Given the description of an element on the screen output the (x, y) to click on. 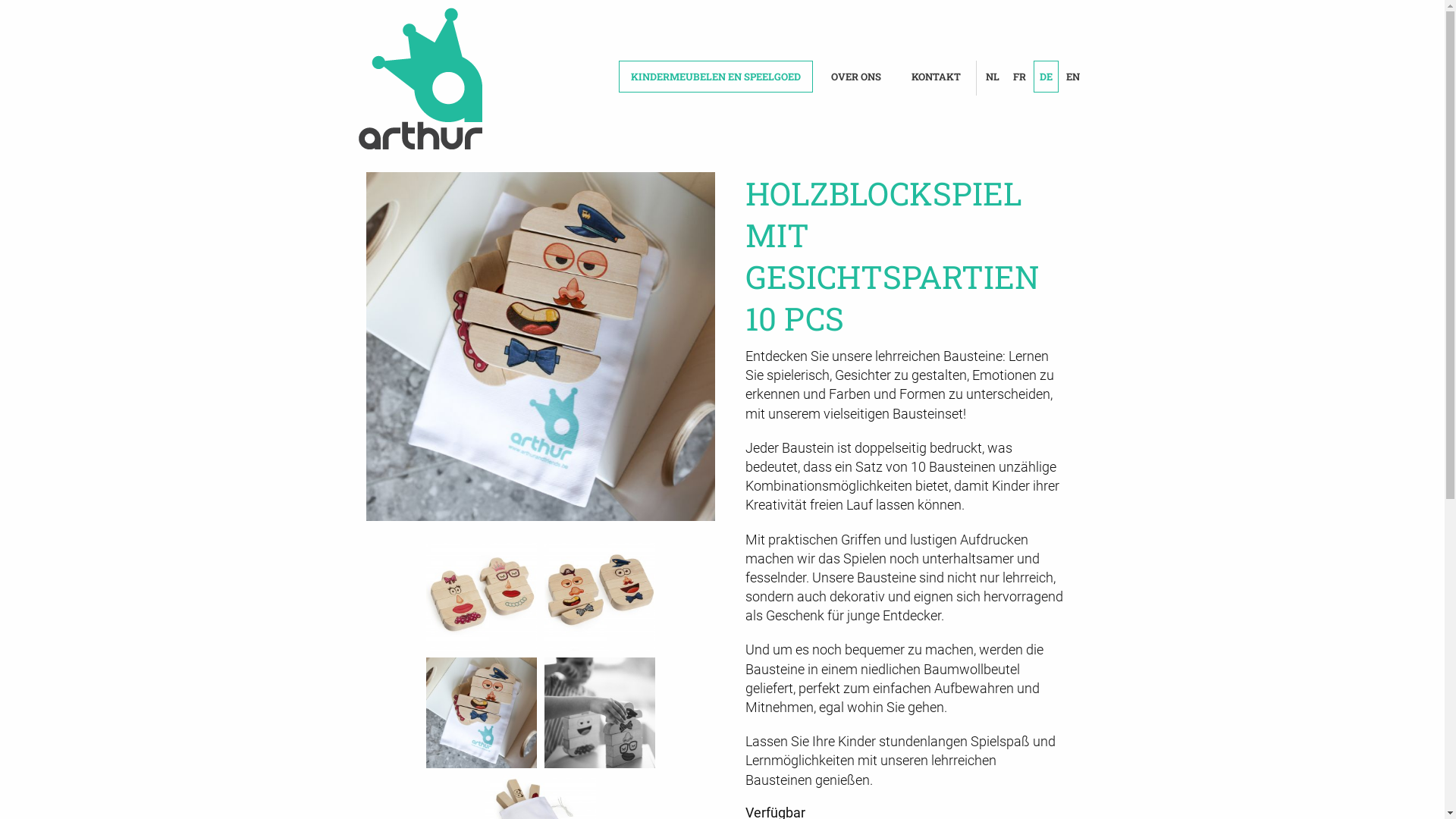
Houten blokken gezicht puzzel His Element type: hover (539, 346)
KONTAKT Element type: text (935, 76)
FR Element type: text (1019, 76)
EN Element type: text (1072, 76)
KINDERMEUBELEN EN SPEELGOED Element type: text (715, 76)
OVER ONS Element type: text (856, 76)
DE Element type: text (1044, 76)
NL Element type: text (992, 76)
